Given the description of an element on the screen output the (x, y) to click on. 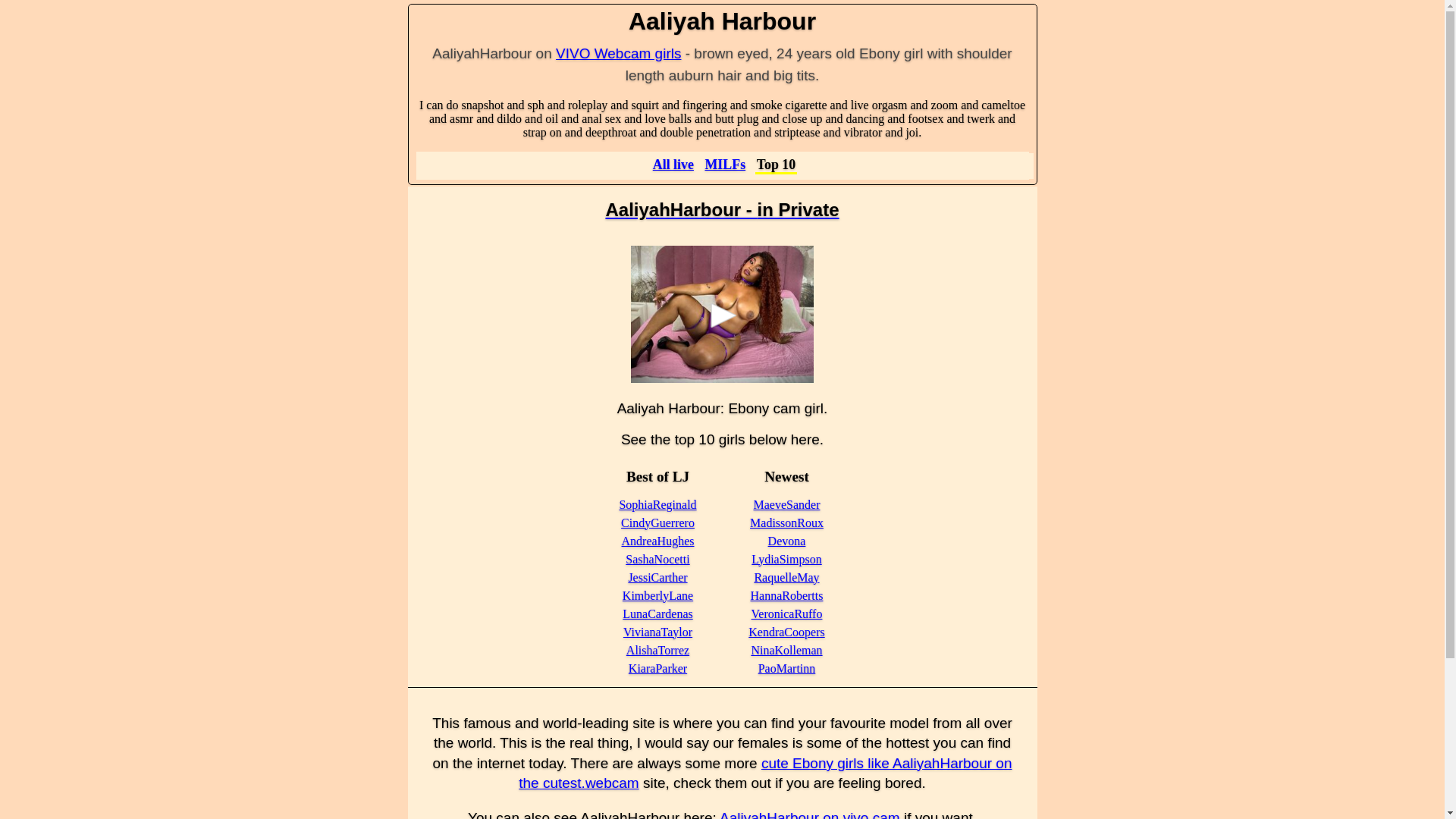
MadissonRoux (786, 522)
KiaraParker (657, 667)
PaoMartinn (786, 667)
Devona (787, 540)
VeronicaRuffo (786, 613)
JessiCarther (657, 576)
AaliyahHarbour on vivo.cam (809, 814)
NinaKolleman (786, 649)
Check out our most popular female performers here! (776, 165)
AndreaHughes (657, 540)
